Given the description of an element on the screen output the (x, y) to click on. 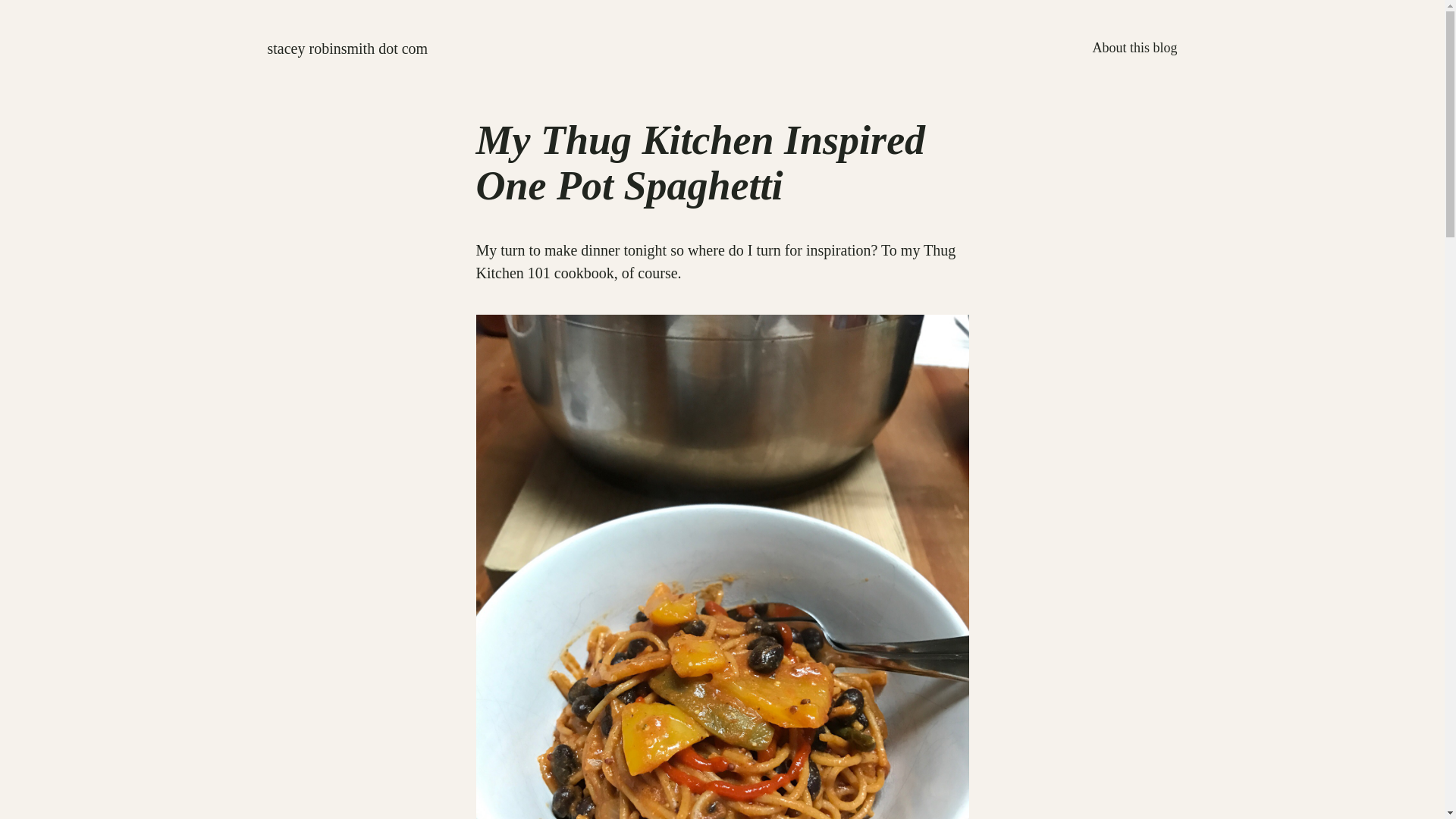
About this blog (1134, 47)
stacey robinsmith dot com (347, 48)
